Given the description of an element on the screen output the (x, y) to click on. 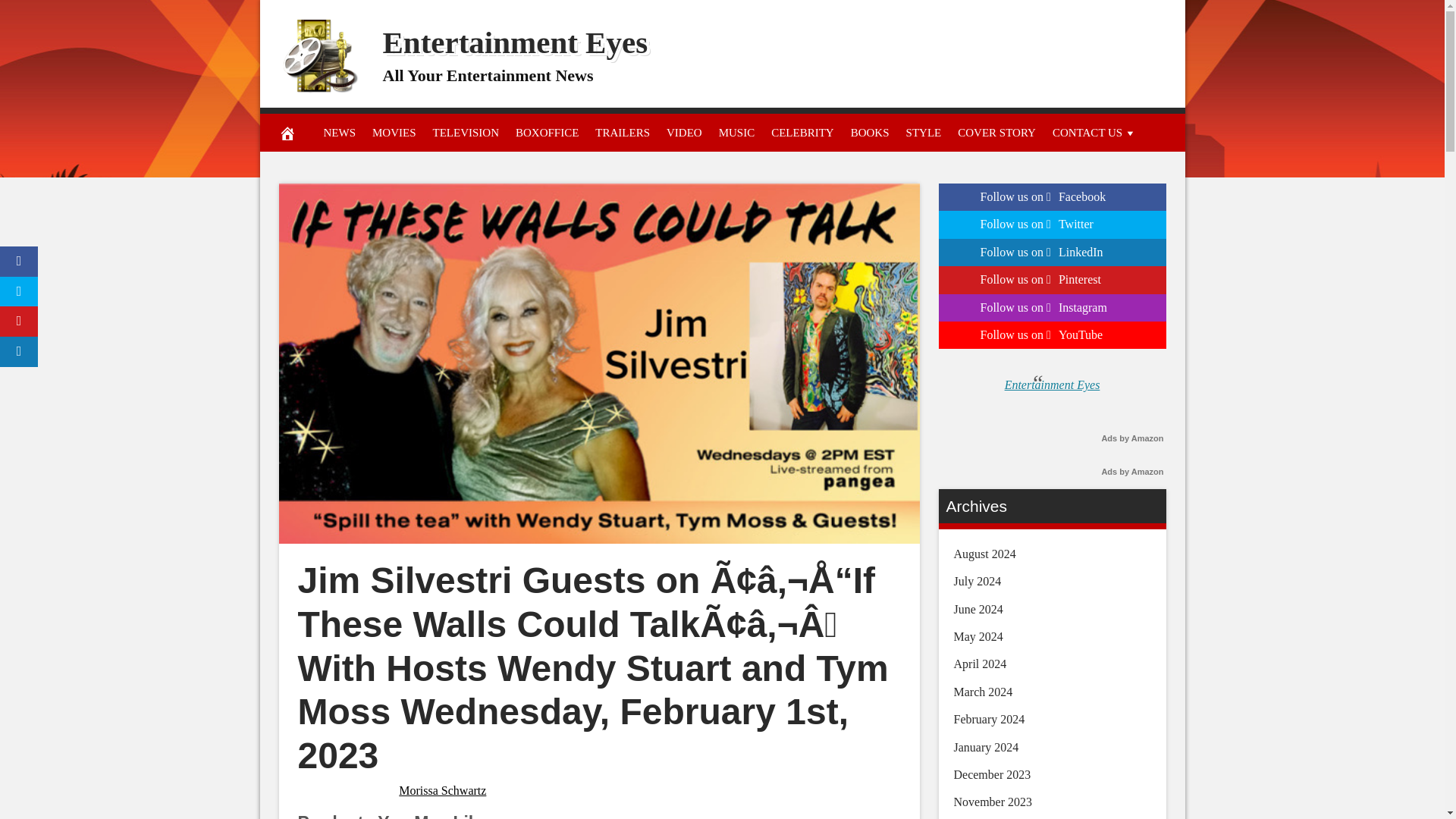
TRAILERS (622, 132)
Entertainment Eyes (514, 42)
STYLE (924, 132)
VIDEO (684, 132)
COVER STORY (996, 132)
BOOKS (870, 132)
TELEVISION (465, 132)
CONTACT US (1093, 132)
MOVIES (394, 132)
